Given the description of an element on the screen output the (x, y) to click on. 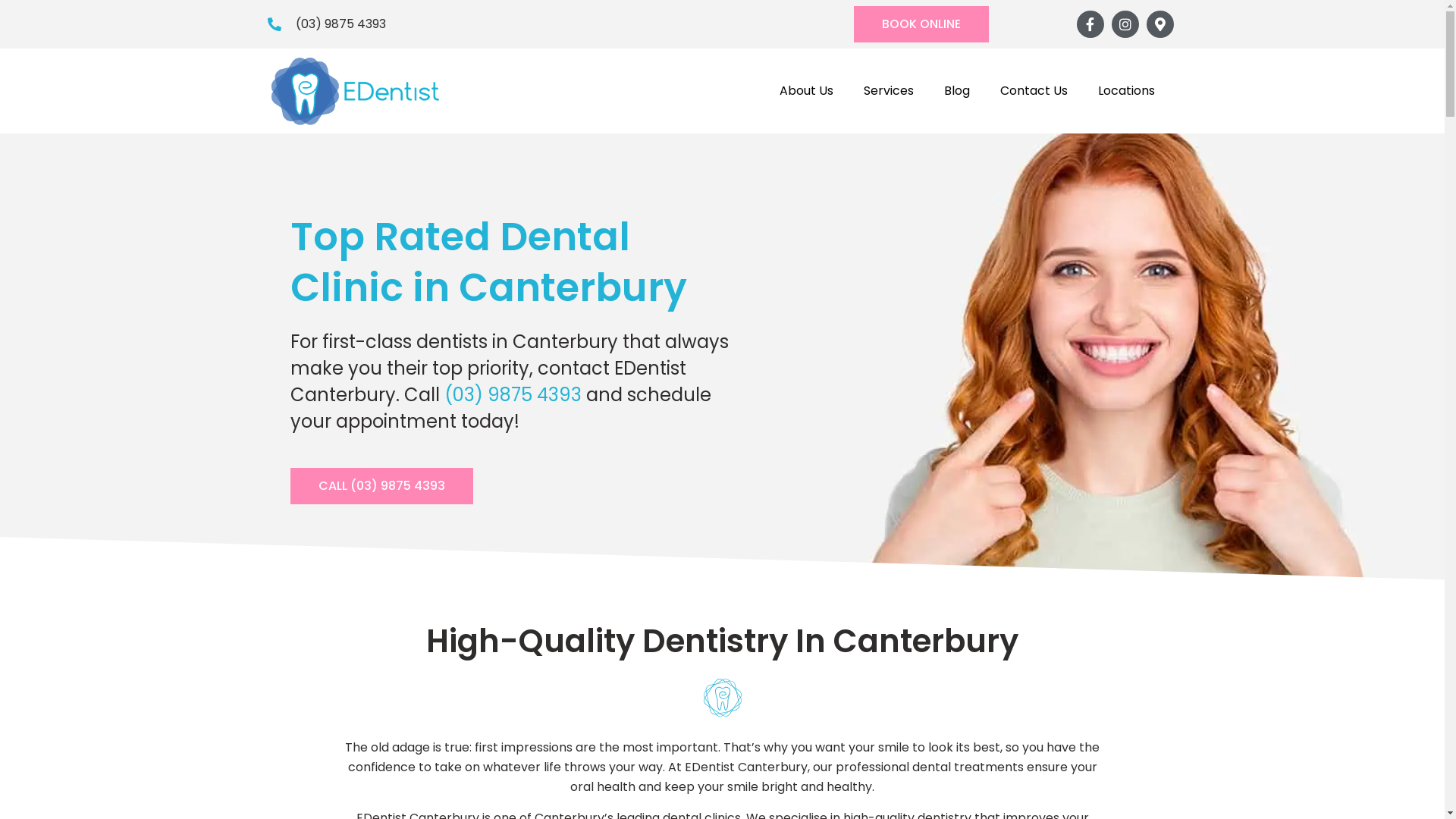
CALL (03) 9875 4393 Element type: text (380, 485)
Blog Element type: text (956, 90)
BOOK ONLINE Element type: text (920, 24)
Services Element type: text (887, 90)
(03) 9875 4393 Element type: text (512, 394)
(03) 9875 4393 Element type: text (325, 24)
Locations Element type: text (1126, 90)
About Us Element type: text (806, 90)
Contact Us Element type: text (1033, 90)
